Given the description of an element on the screen output the (x, y) to click on. 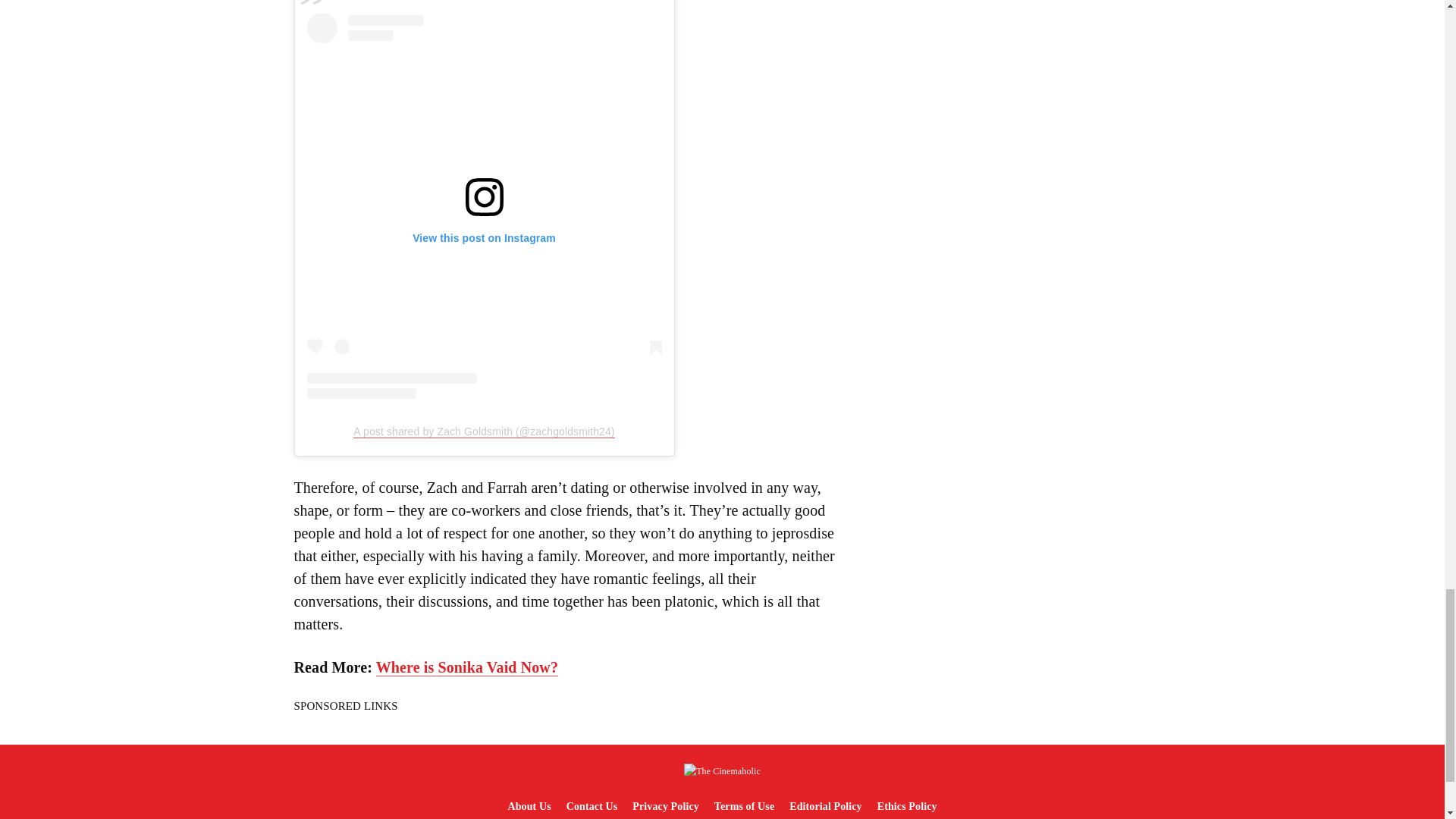
Ethics Policy (906, 806)
Contact Us (592, 806)
Where is Sonika Vaid Now? (466, 667)
Privacy Policy (665, 806)
About Us (528, 806)
Editorial Policy (825, 806)
Terms of Use (743, 806)
